Given the description of an element on the screen output the (x, y) to click on. 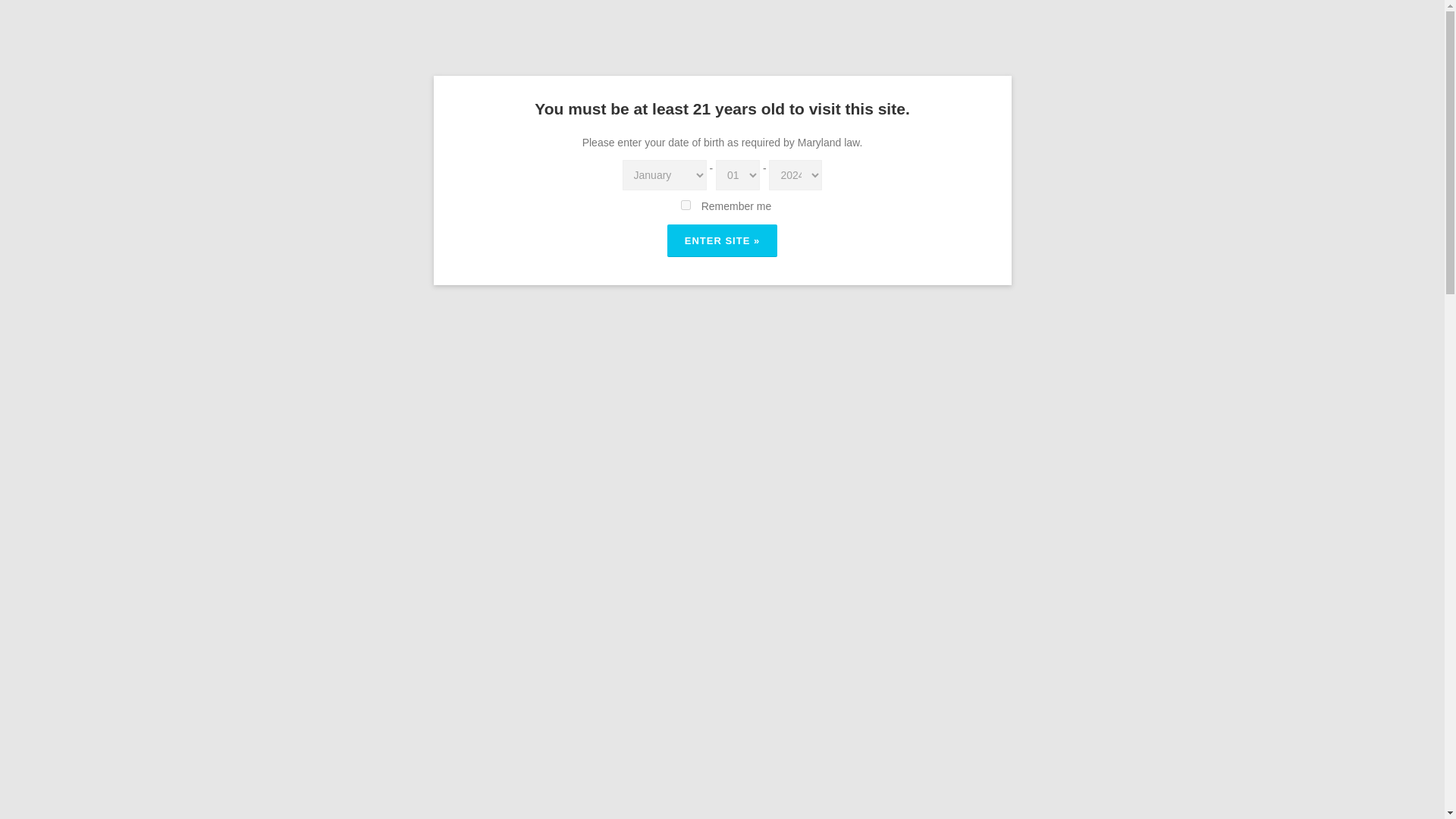
PATIENTS (893, 28)
APRIL 1, 2021 (406, 163)
SYSTEM (487, 163)
RESOURCES (981, 28)
CONTACT (1109, 28)
SIGN UP FOR DISCOUNTS (1052, 546)
MENUS (688, 28)
ABOUT (623, 28)
1 (685, 204)
UPCOMING EVENTS (787, 28)
